Given the description of an element on the screen output the (x, y) to click on. 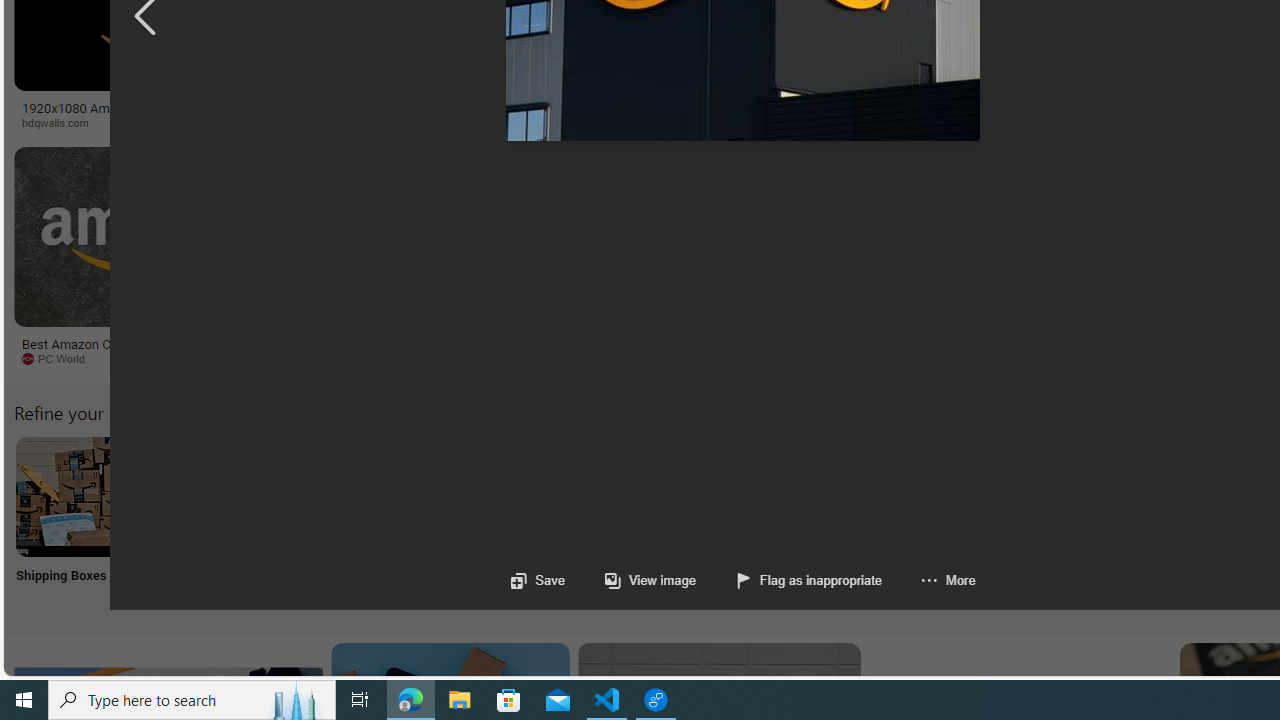
Best Amazon Cyber Monday deals 2019 | PCWorld (146, 350)
Retail Store (867, 521)
aiophotoz.com (611, 358)
Amazon Online Shopping Search (207, 496)
thewrap.com (826, 358)
PC World (59, 358)
hdqwalls.com (167, 123)
Clip Art (339, 521)
How Much Is Amazon's Net Worth? | GOBankingRates (485, 114)
Log into My Account (472, 521)
